Given the description of an element on the screen output the (x, y) to click on. 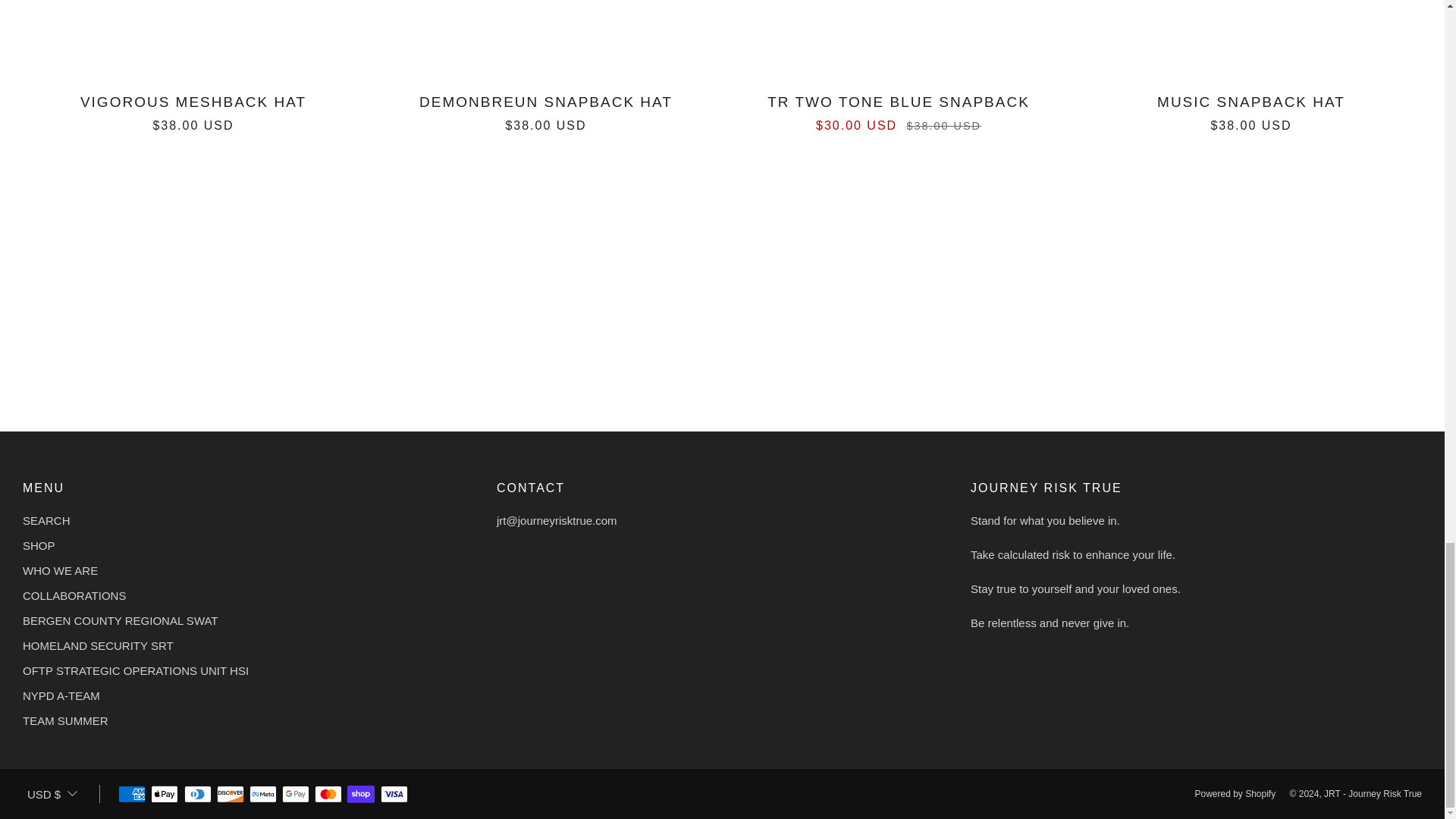
TR Two Tone Blue Snapback (898, 110)
Music Snapback Hat (1251, 110)
Vigorous Meshback Hat (193, 110)
Demonbreun Snapback Hat (545, 110)
